Given the description of an element on the screen output the (x, y) to click on. 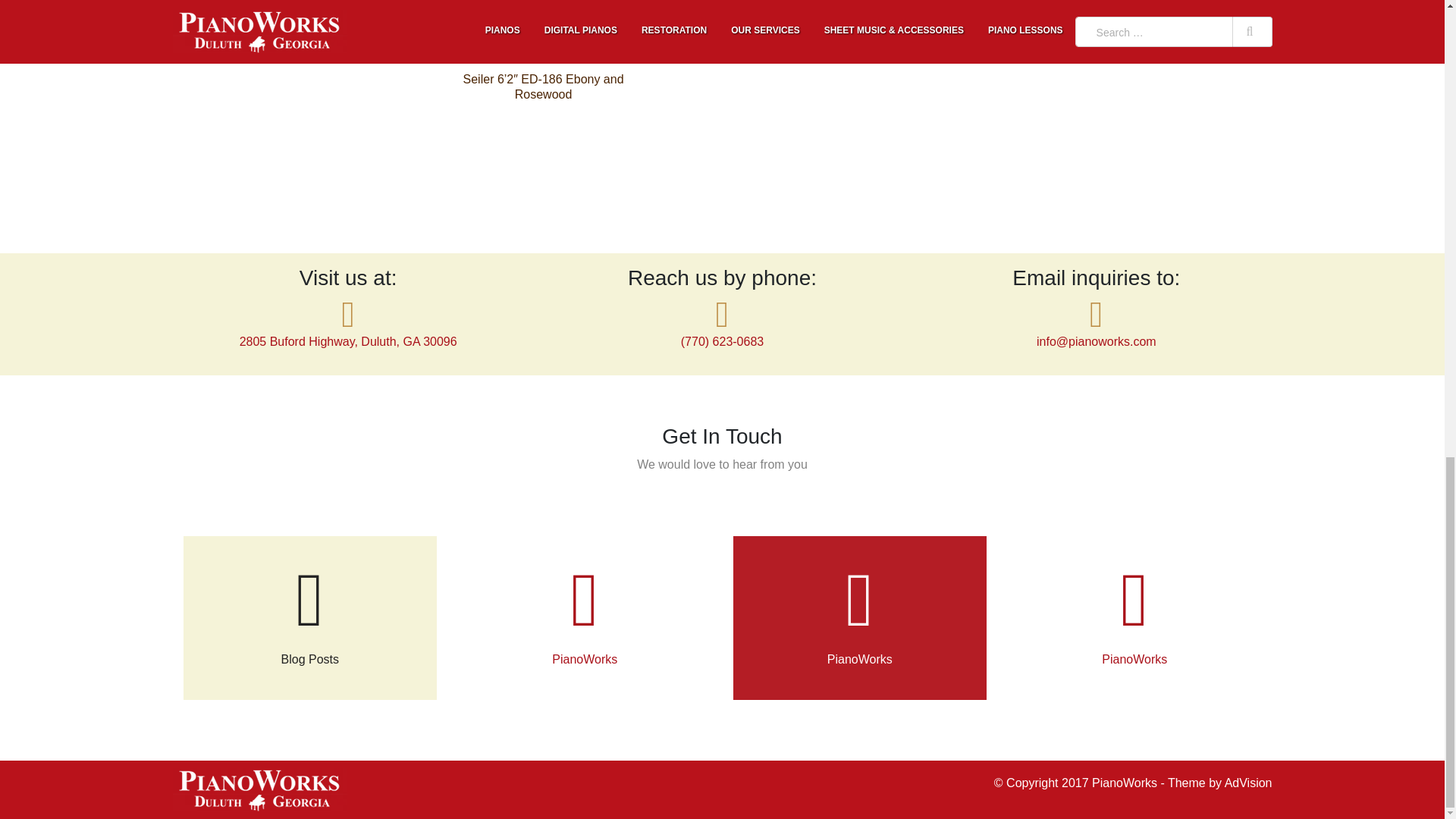
Email (1096, 341)
